Given the description of an element on the screen output the (x, y) to click on. 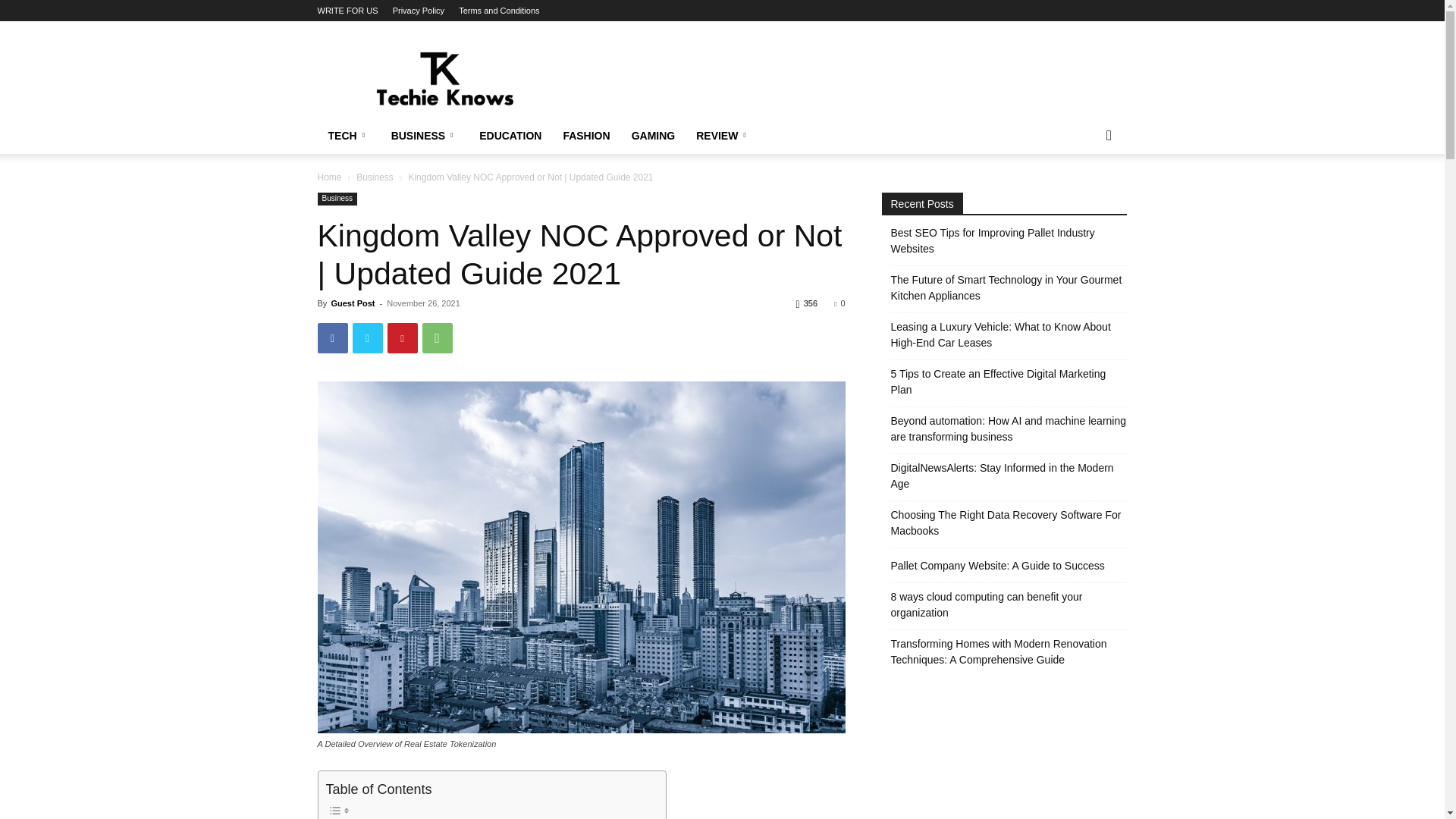
WhatsApp (436, 337)
WRITE FOR US (347, 10)
Terms and Conditions (498, 10)
View all posts in Business (374, 176)
Pinterest (401, 337)
FASHION (585, 135)
Twitter (366, 337)
TECH (348, 135)
Home (328, 176)
GAMING (653, 135)
EDUCATION (509, 135)
Facebook (332, 337)
Search (1085, 196)
Privacy Policy (418, 10)
